Given the description of an element on the screen output the (x, y) to click on. 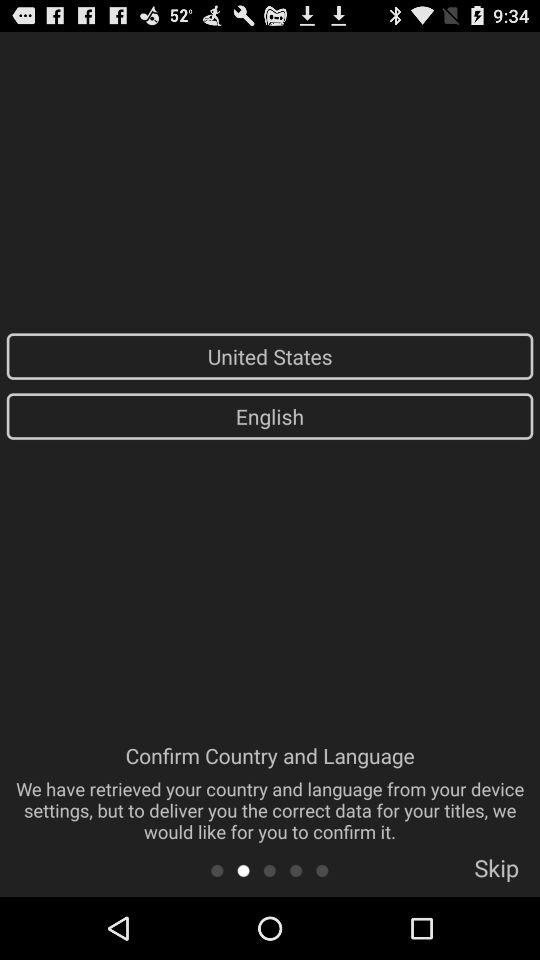
turn off skip (496, 873)
